Given the description of an element on the screen output the (x, y) to click on. 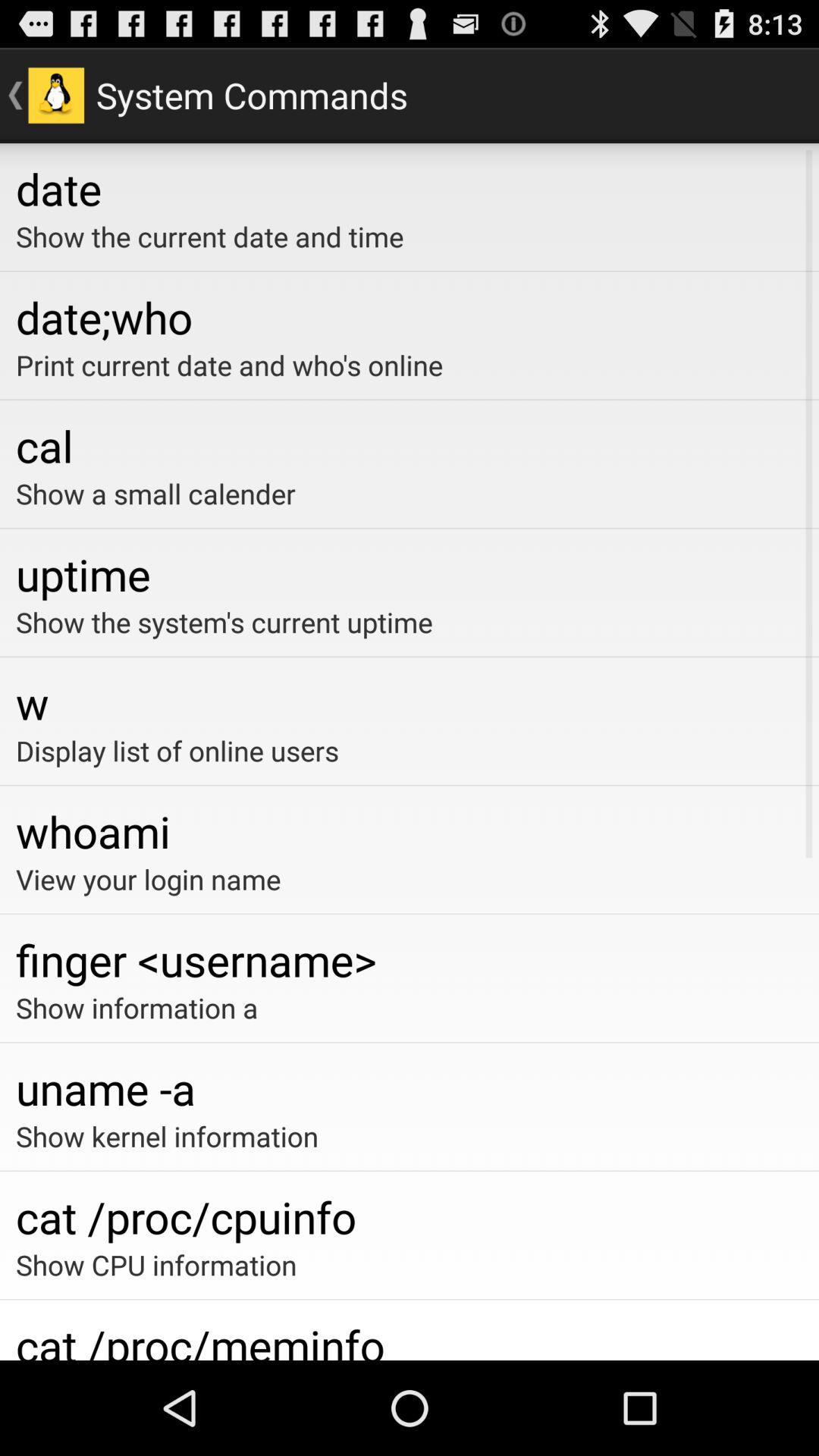
turn off whoami icon (409, 830)
